Given the description of an element on the screen output the (x, y) to click on. 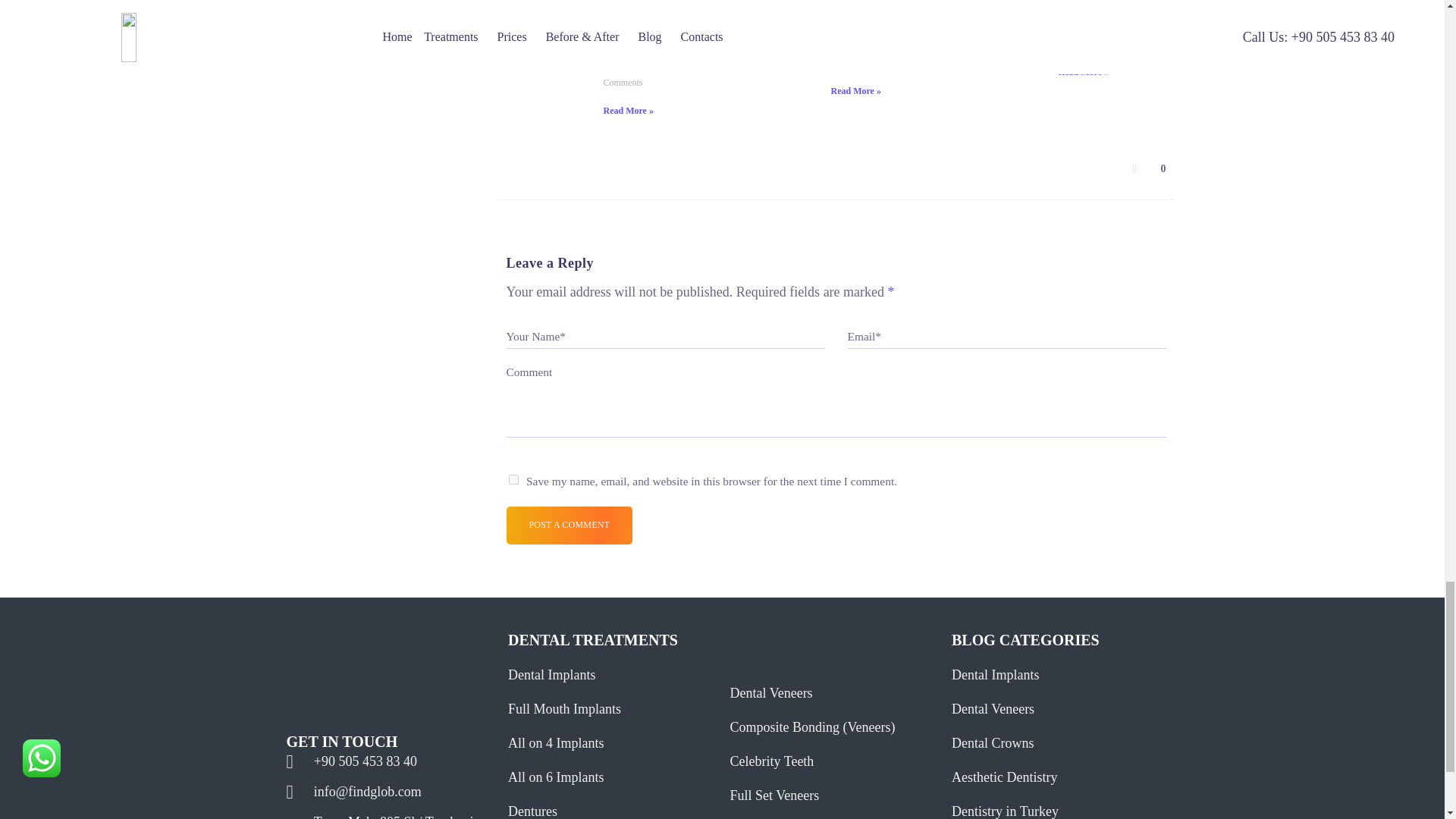
The cheapest country for All on 4 dental implants (774, 14)
Where do celebrities get their teeth done in Turkey (547, 16)
yes (513, 479)
Dental tourism in Turkey (1001, 16)
pixeldigital-04 (373, 651)
